Given the description of an element on the screen output the (x, y) to click on. 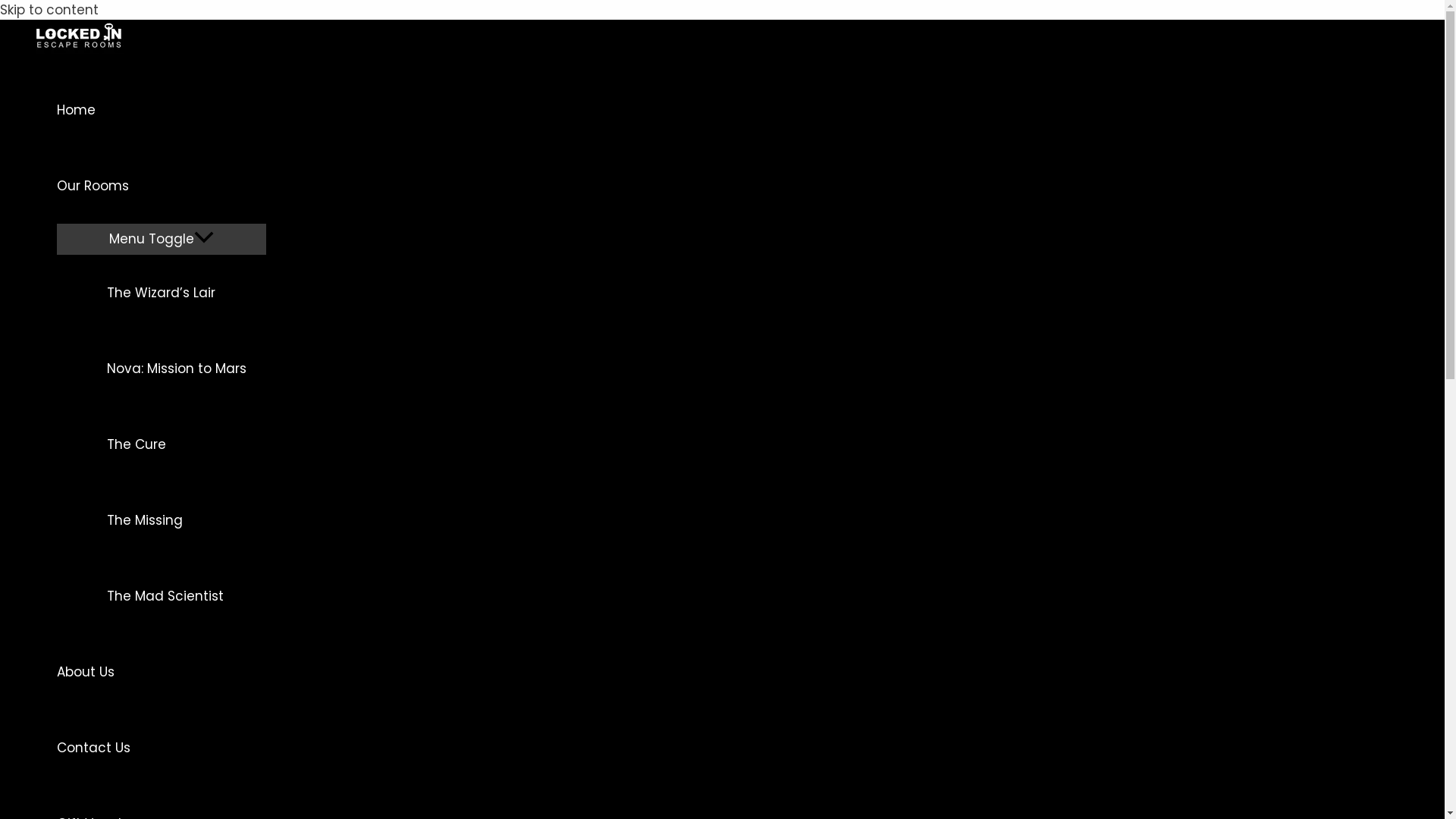
Our Rooms Element type: text (161, 185)
The Missing Element type: text (176, 520)
Contact Us Element type: text (161, 747)
Nova: Mission to Mars Element type: text (176, 368)
Skip to content Element type: text (49, 9)
Home Element type: text (161, 109)
The Cure Element type: text (176, 444)
Menu Toggle Element type: text (161, 238)
About Us Element type: text (161, 671)
The Mad Scientist Element type: text (176, 595)
